Given the description of an element on the screen output the (x, y) to click on. 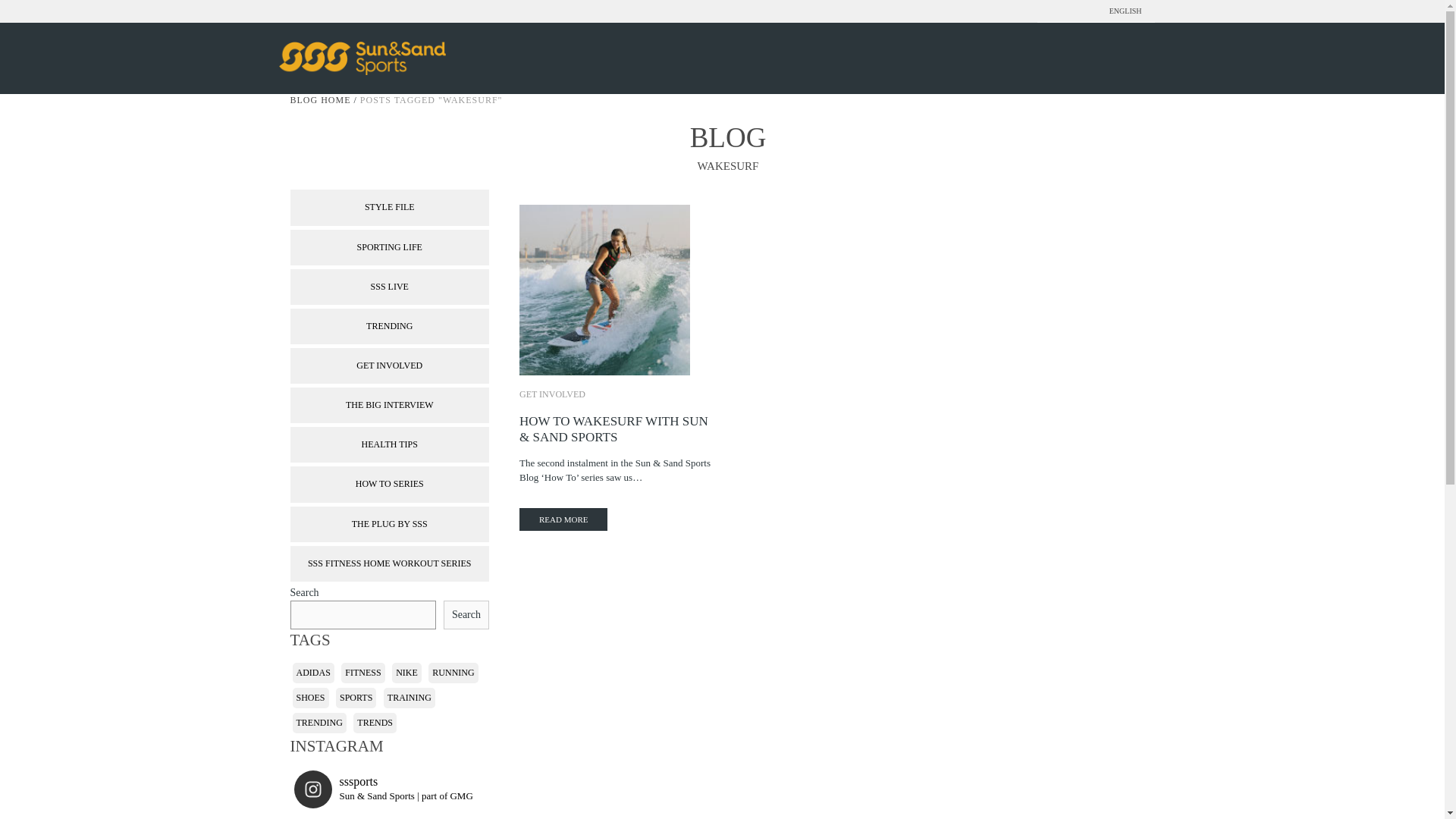
TRENDING (319, 722)
BLOG (728, 137)
SPORTING LIFE (389, 247)
FITNESS (362, 672)
STYLE FILE (389, 207)
HOW TO SERIES (389, 484)
BLOG HOME (319, 100)
TRENDING (389, 325)
ADIDAS (313, 672)
Blog (728, 137)
TRAINING (409, 697)
THE BIG INTERVIEW (389, 405)
GET INVOLVED (389, 366)
SSS LIVE (389, 286)
SSS FITNESS HOME WORKOUT SERIES (389, 563)
